Given the description of an element on the screen output the (x, y) to click on. 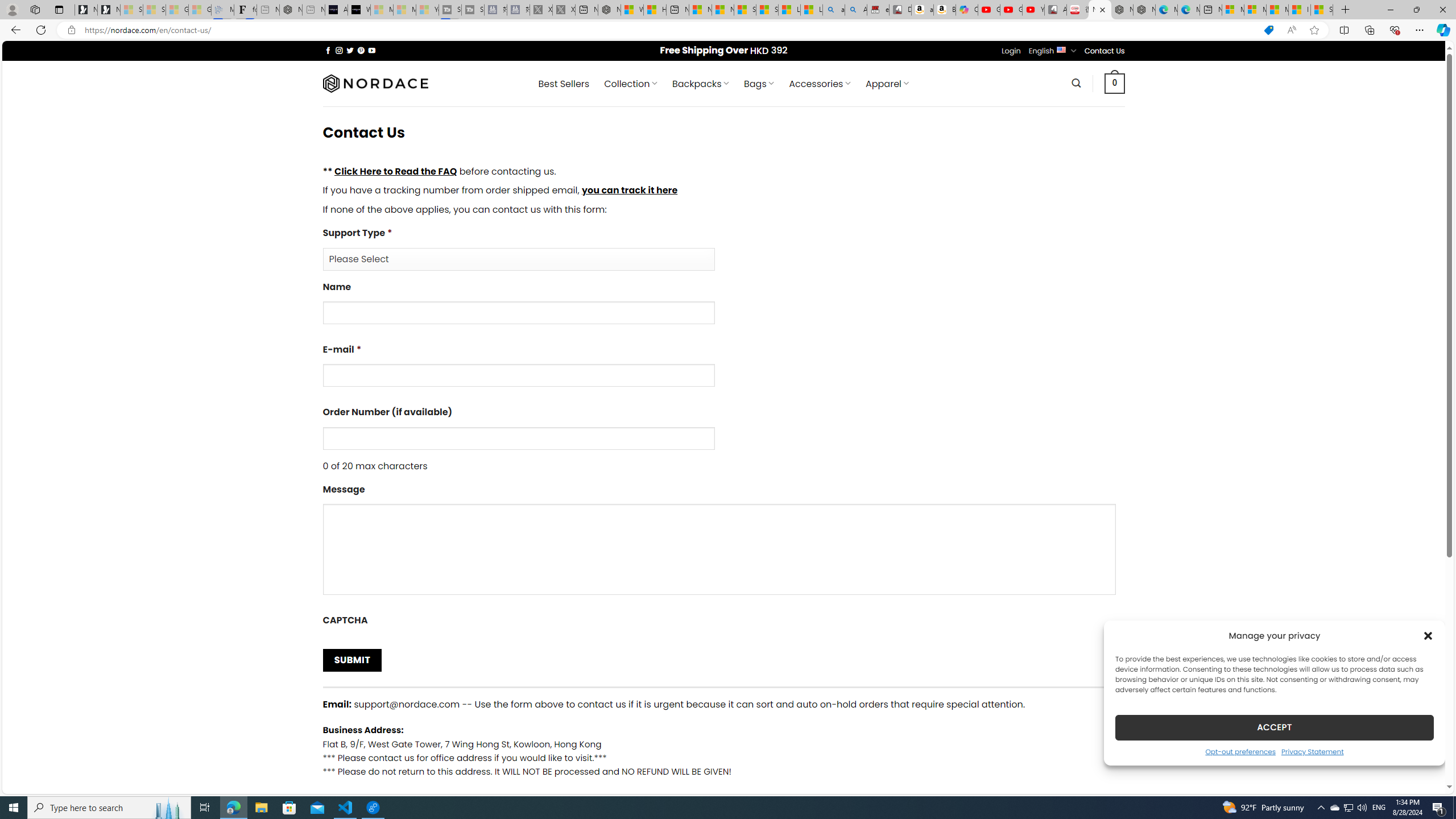
View site information (70, 29)
Contact Us (1104, 50)
Follow on Facebook (327, 49)
Message (718, 549)
Tab actions menu (58, 9)
Nordace (374, 83)
Login (1010, 50)
 0  (1115, 83)
Settings and more (Alt+F) (1419, 29)
Nordace (374, 83)
Nordace - My Account (609, 9)
